Given the description of an element on the screen output the (x, y) to click on. 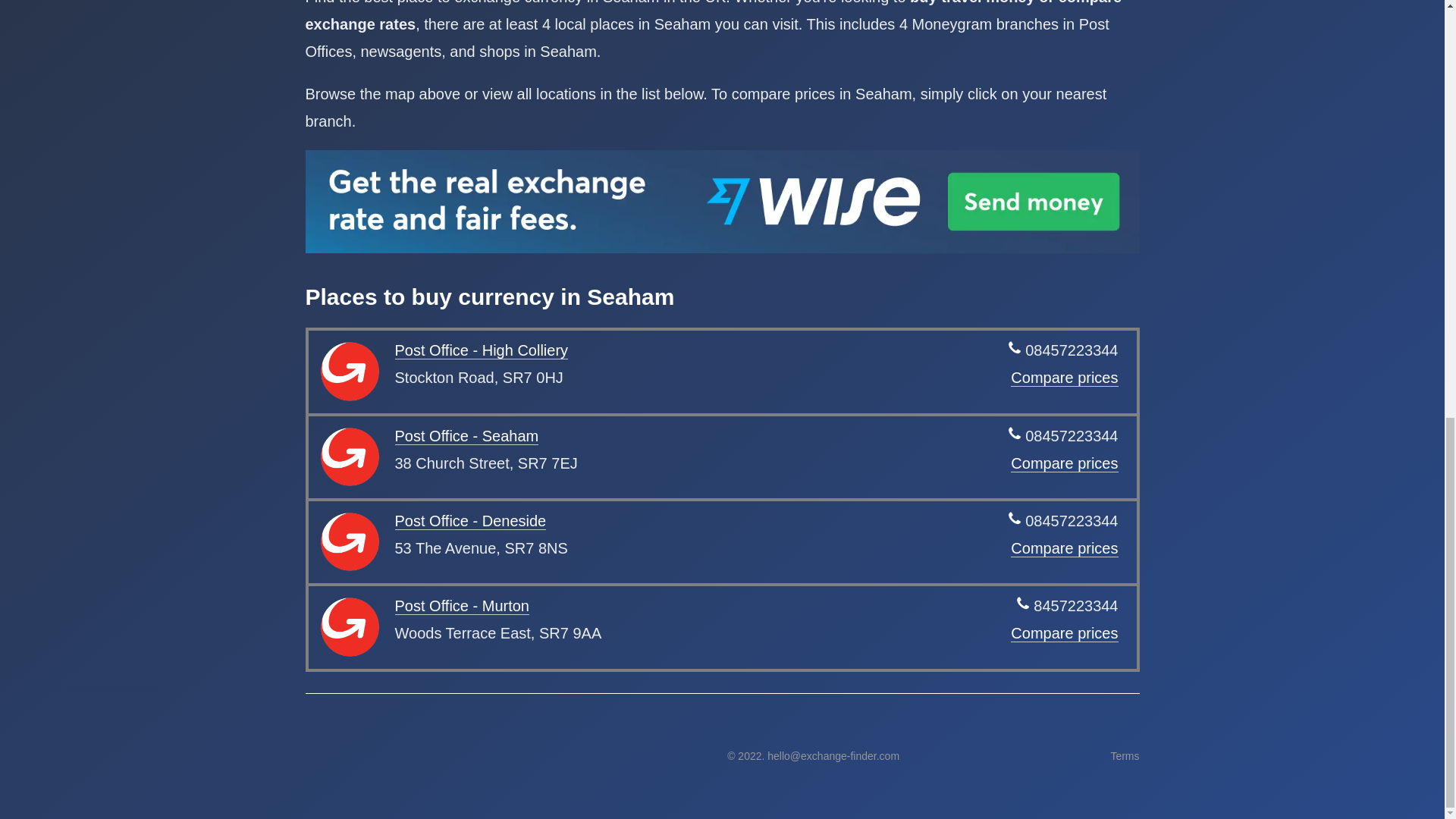
Compare prices (1064, 377)
Compare prices (1064, 463)
Compare prices (1064, 548)
Terms (1123, 756)
Compare prices (1064, 633)
Post Office - Deneside (470, 520)
Post Office - High Colliery (480, 350)
Post Office - Murton (461, 606)
Post Office - Seaham (466, 436)
